Given the description of an element on the screen output the (x, y) to click on. 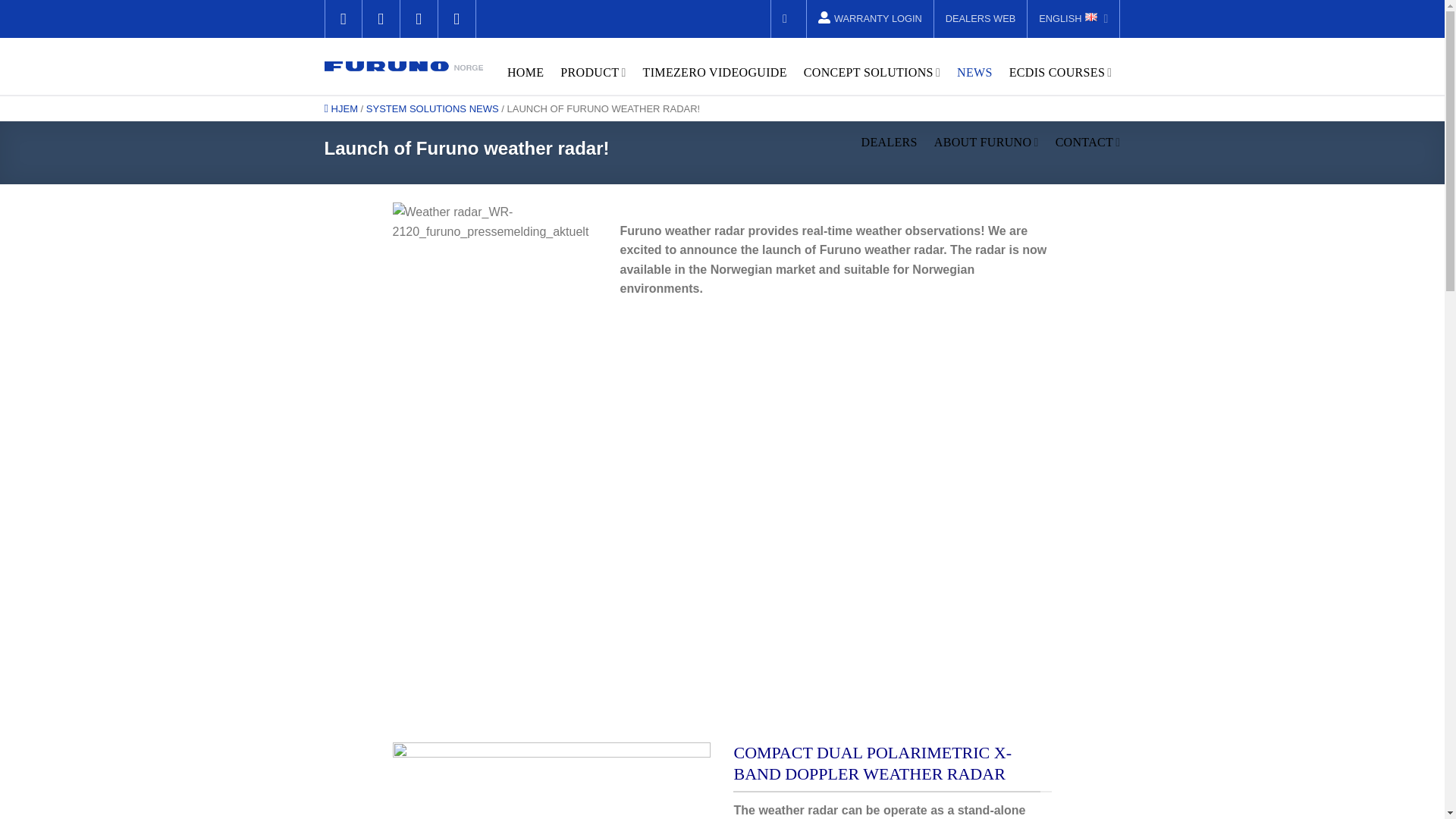
ENGLISH (1073, 18)
PRODUCT (593, 72)
Follow on YouTube (457, 18)
Follow on Facebook (343, 18)
WARRANTY LOGIN (869, 18)
DEALERS WEB (980, 18)
Follow on LinkedIn (419, 18)
Follow on Instagram (381, 18)
